Given the description of an element on the screen output the (x, y) to click on. 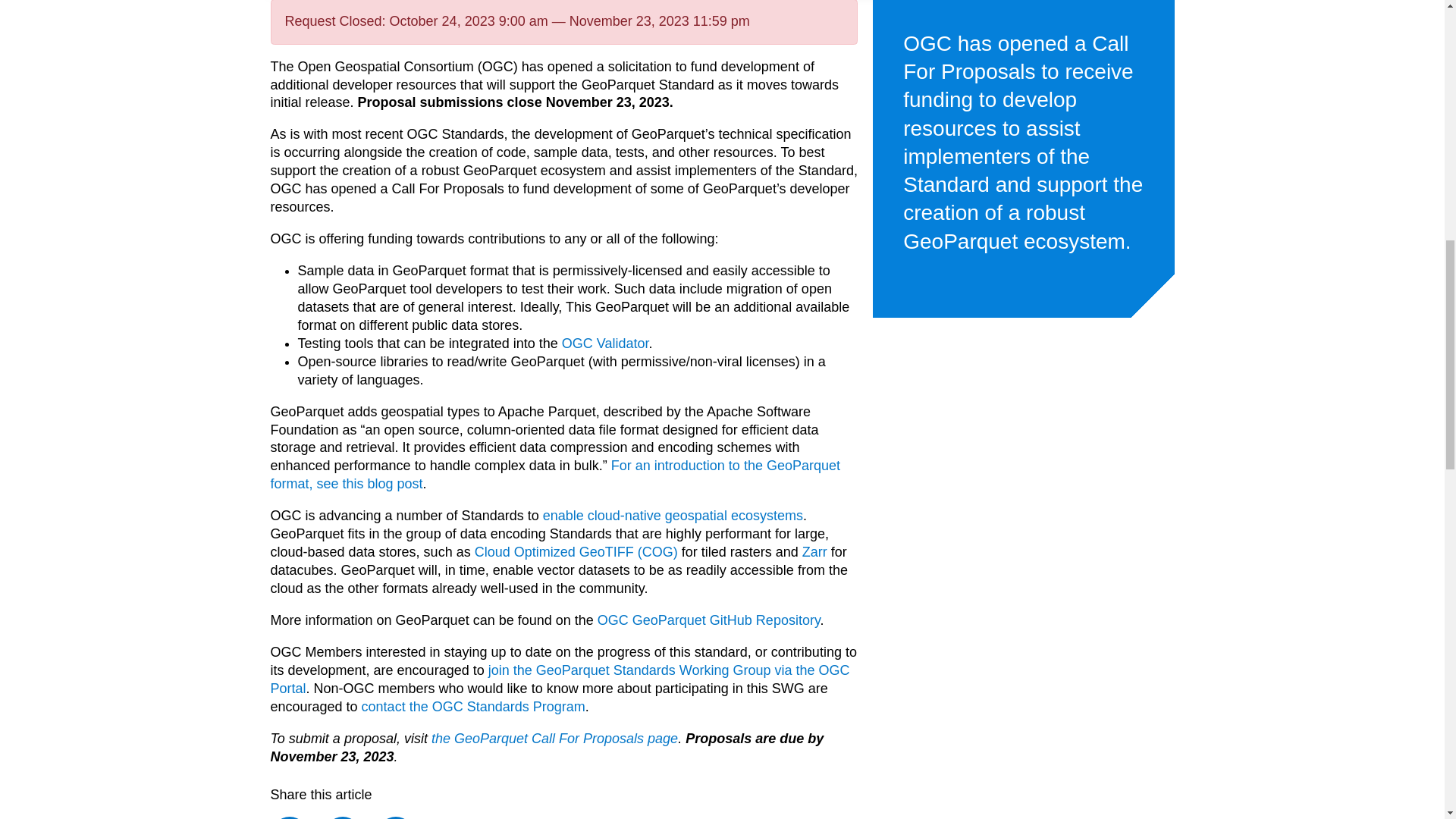
Facebook (288, 817)
Twitter (342, 817)
LinkedIn (395, 817)
